Given the description of an element on the screen output the (x, y) to click on. 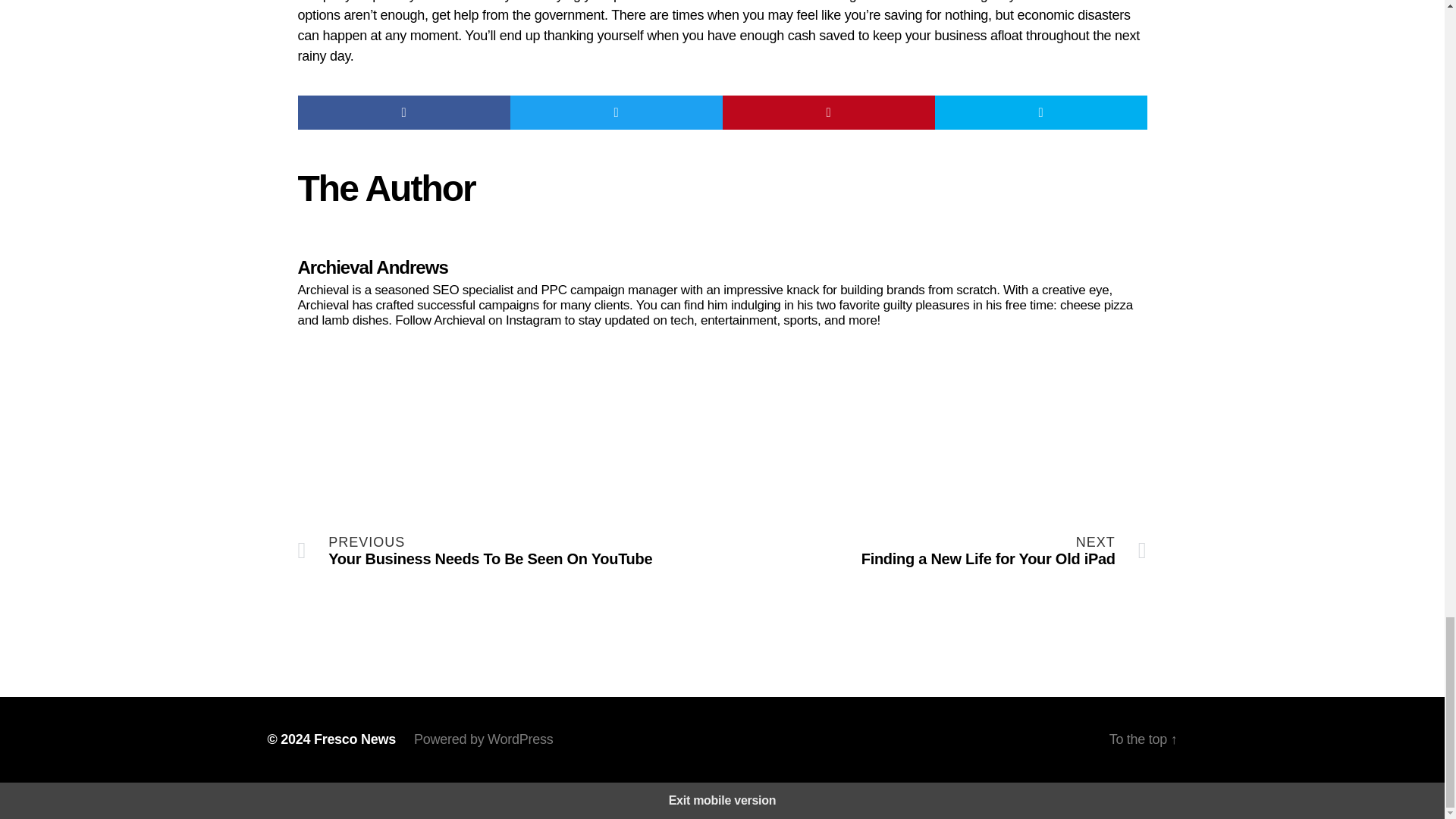
Powered by WordPress (483, 739)
Fresco News (934, 551)
